Given the description of an element on the screen output the (x, y) to click on. 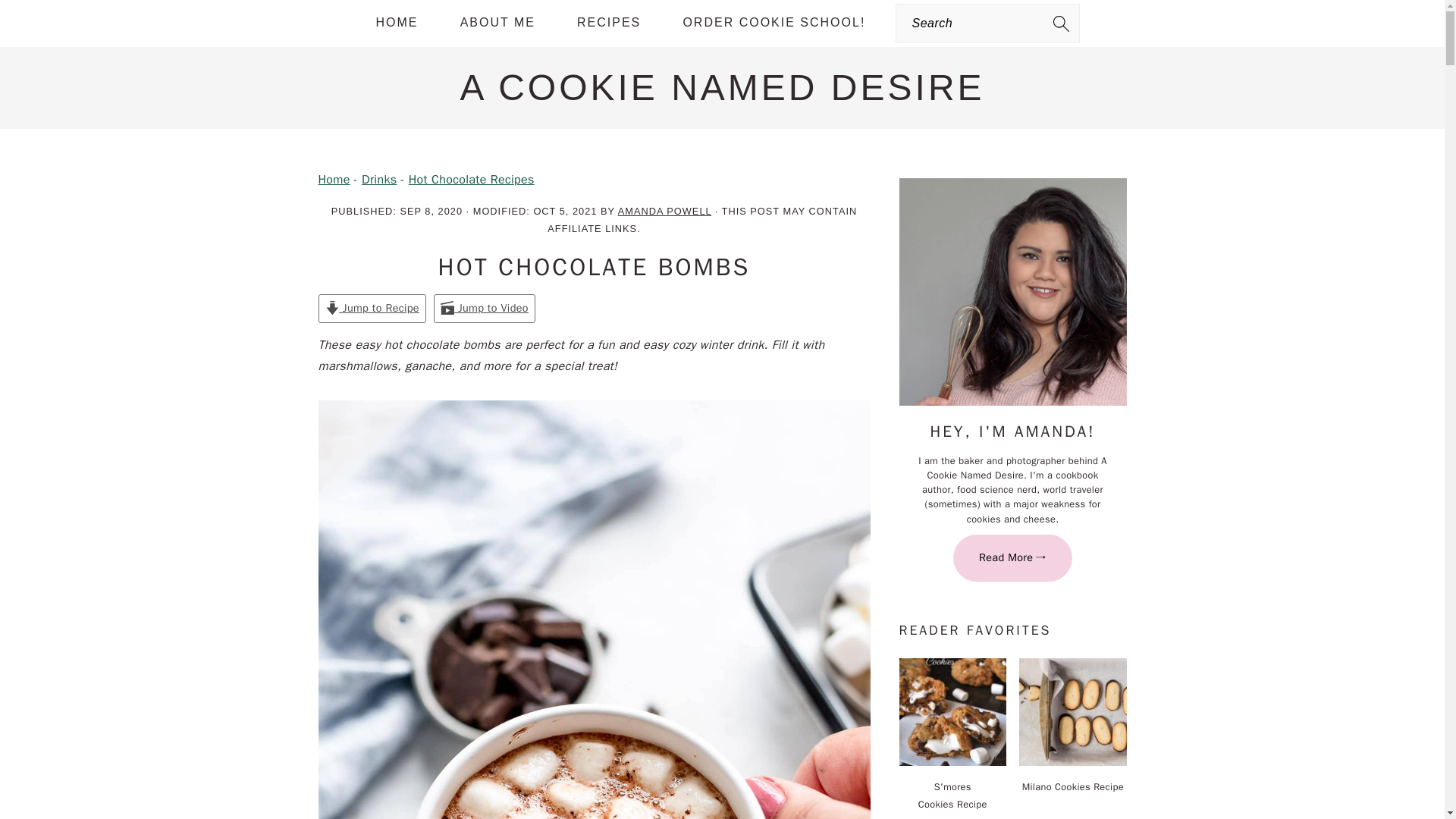
Drinks (378, 179)
RECIPES (608, 22)
Hot Chocolate Recipes (471, 179)
A COOKIE NAMED DESIRE (722, 87)
HOME (397, 22)
Search (275, 19)
AMANDA POWELL (664, 211)
ABOUT ME (497, 22)
Jump to Recipe (372, 308)
Home (334, 179)
ORDER COOKIE SCHOOL! (773, 22)
Jump to Video (484, 308)
